Given the description of an element on the screen output the (x, y) to click on. 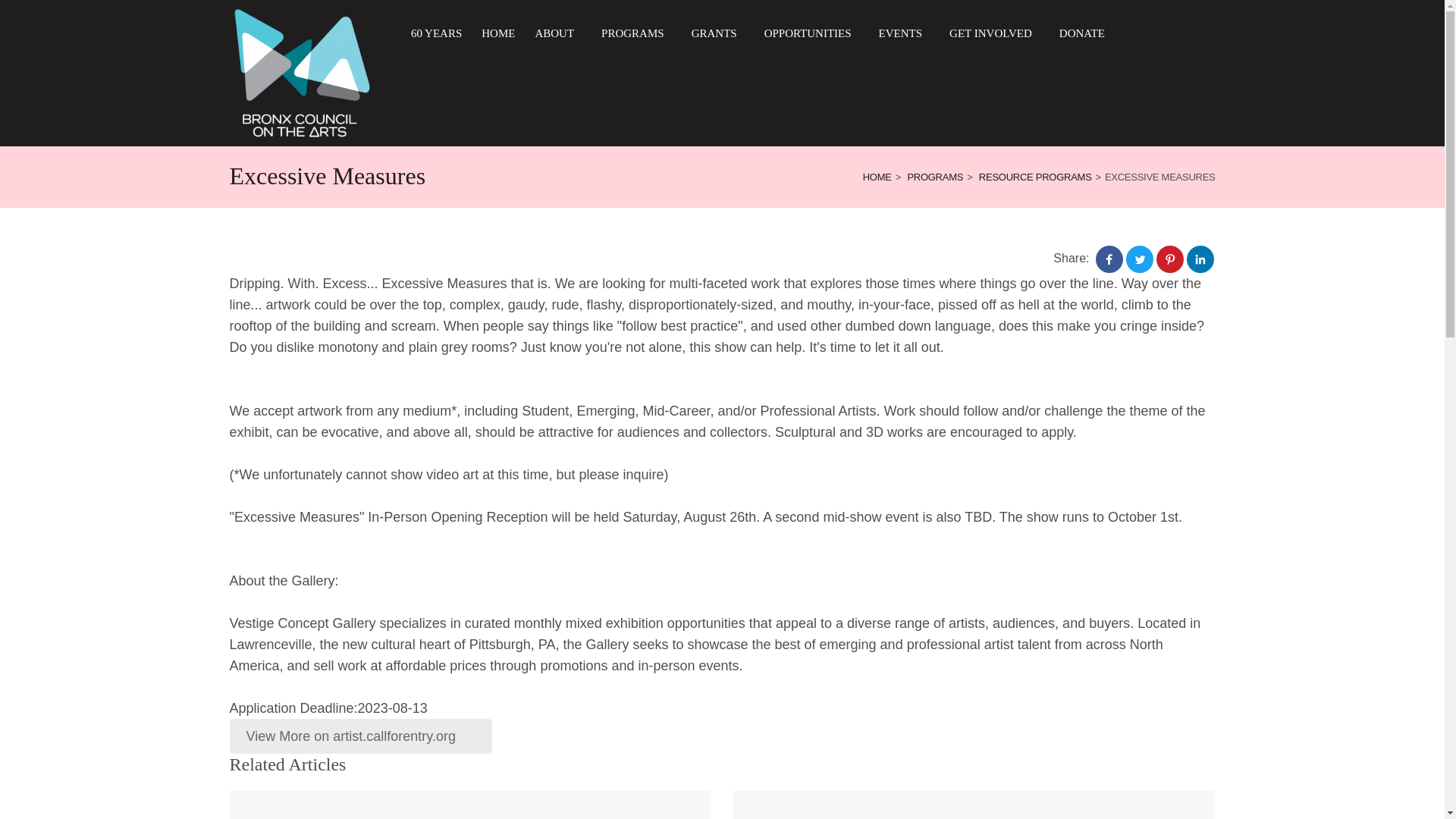
PROGRAMS (636, 33)
OPPORTUNITIES (811, 33)
Twitter (1139, 258)
LinkedIn (1199, 258)
Pinterest (1169, 258)
60 YEARS (435, 33)
GRANTS (718, 33)
Facebook (1108, 258)
